Given the description of an element on the screen output the (x, y) to click on. 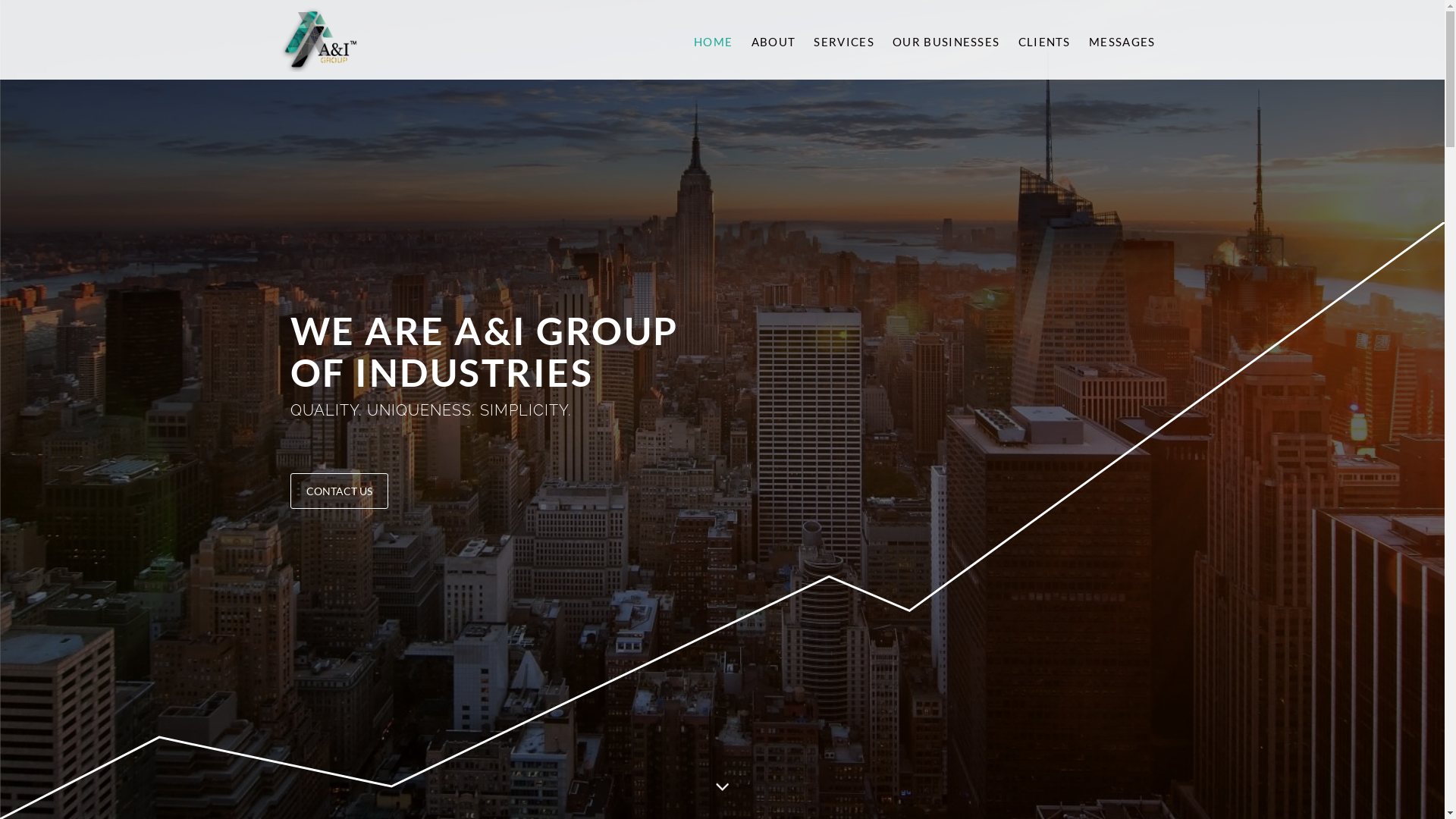
 MESSAGES Element type: text (1120, 39)
 ABOUT Element type: text (771, 39)
 OUR BUSINESSES Element type: text (944, 39)
CONTACT US Element type: text (338, 490)
HOME Element type: text (713, 39)
 SERVICES Element type: text (842, 39)
 CLIENTS Element type: text (1042, 39)
